Given the description of an element on the screen output the (x, y) to click on. 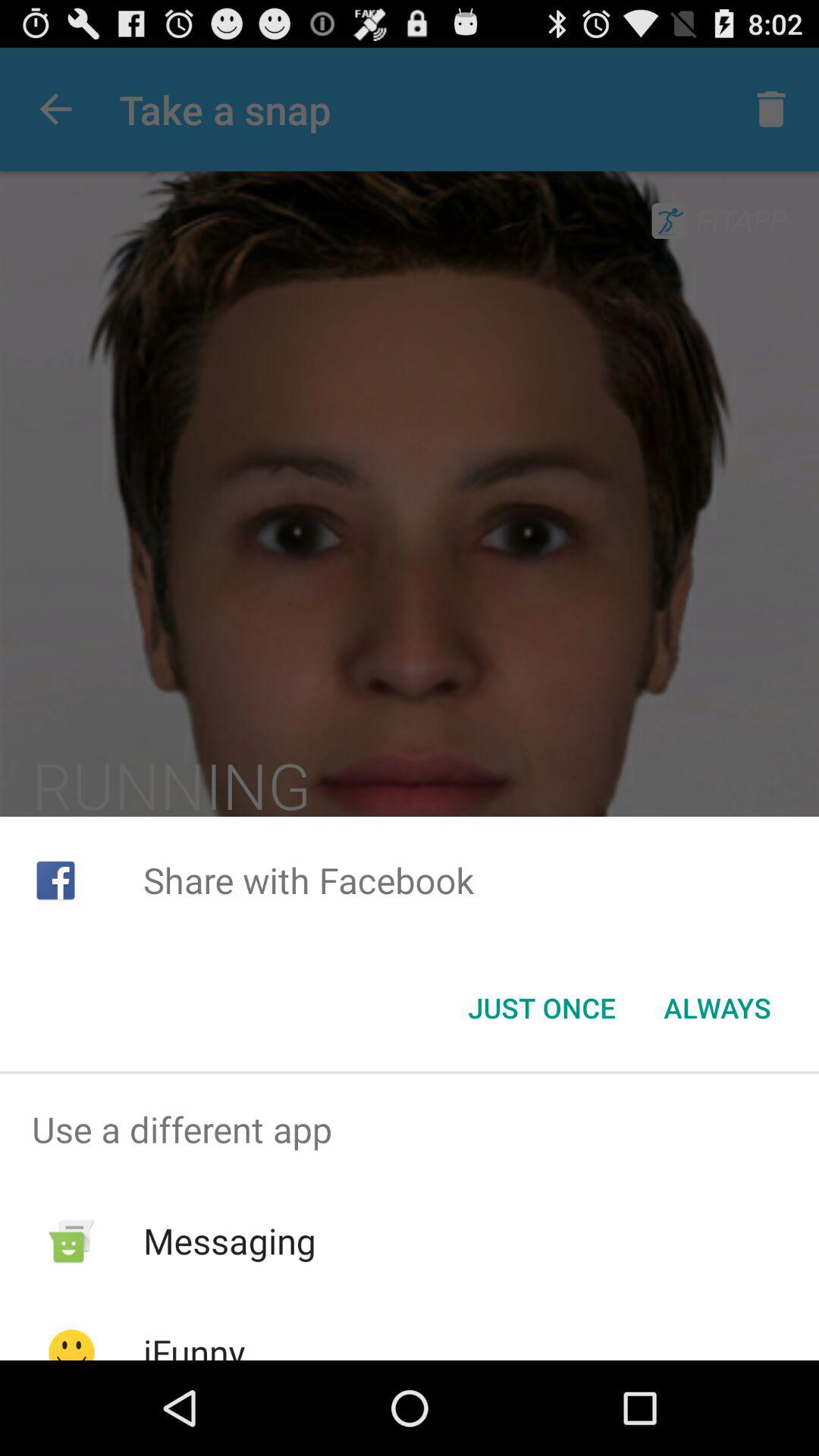
jump until use a different icon (409, 1129)
